Given the description of an element on the screen output the (x, y) to click on. 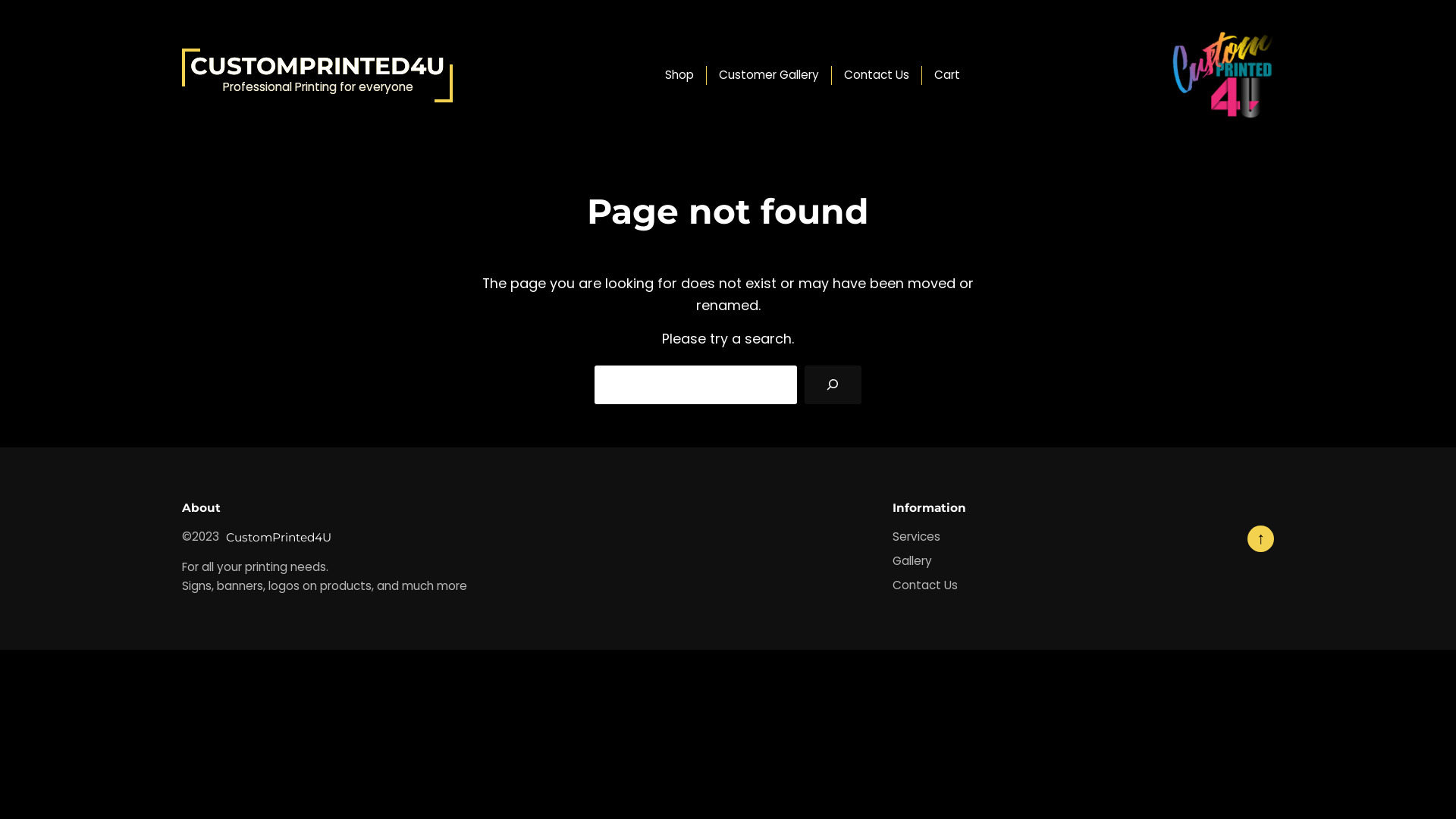
CUSTOMPRINTED4U Element type: text (317, 65)
Services Element type: text (916, 536)
CustomPrinted4U Element type: text (278, 536)
Gallery Element type: text (911, 561)
Contact Us Element type: text (875, 74)
Customer Gallery Element type: text (768, 74)
Cart Element type: text (947, 74)
Shop Element type: text (678, 74)
Contact Us Element type: text (924, 585)
